Given the description of an element on the screen output the (x, y) to click on. 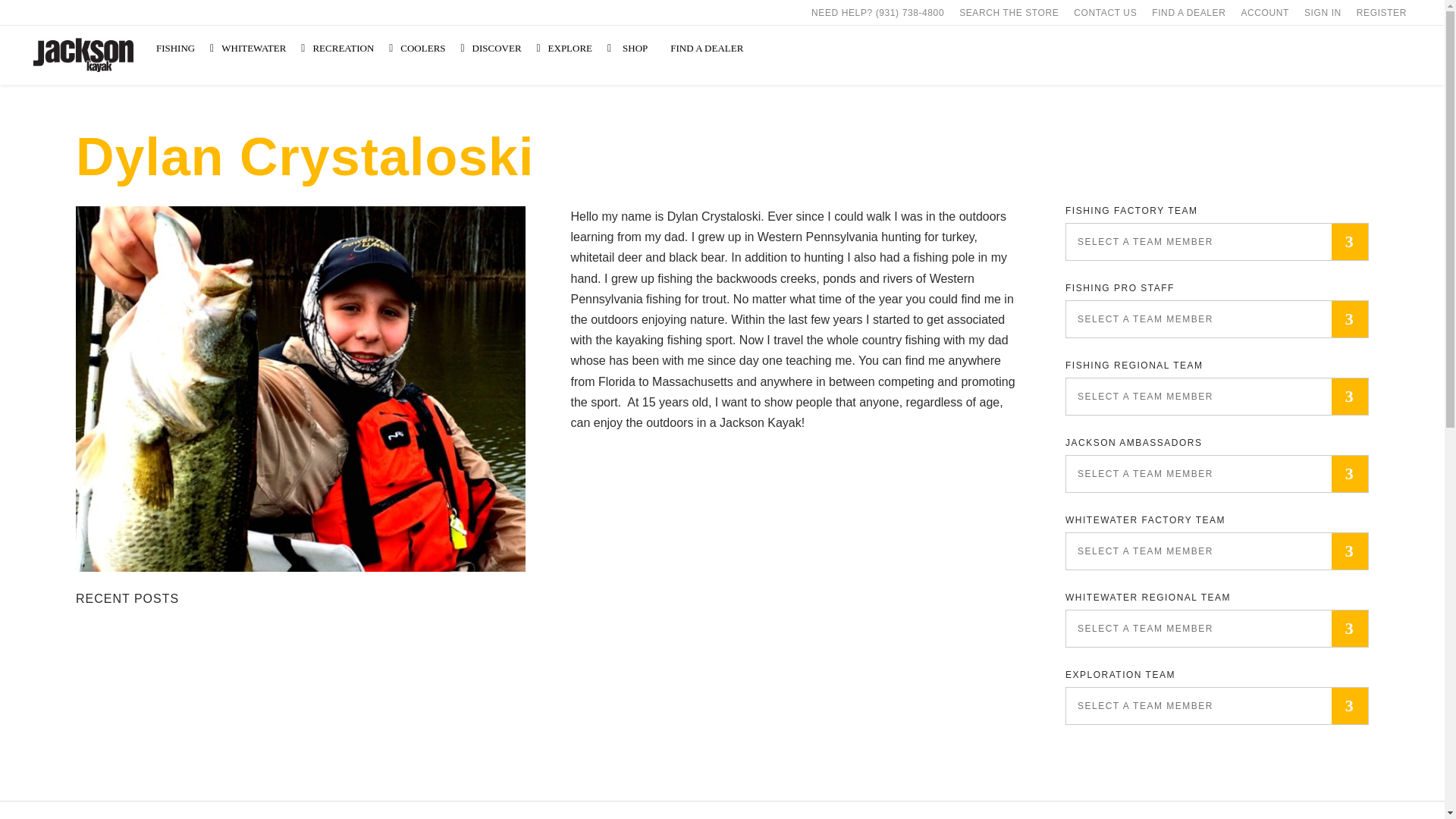
CONTACT US (1104, 12)
REGISTER (1381, 12)
SIGN IN (1323, 12)
FIND A DEALER (1188, 12)
SEARCH THE STORE (1008, 12)
FISHING (181, 48)
ACCOUNT (1265, 12)
